Given the description of an element on the screen output the (x, y) to click on. 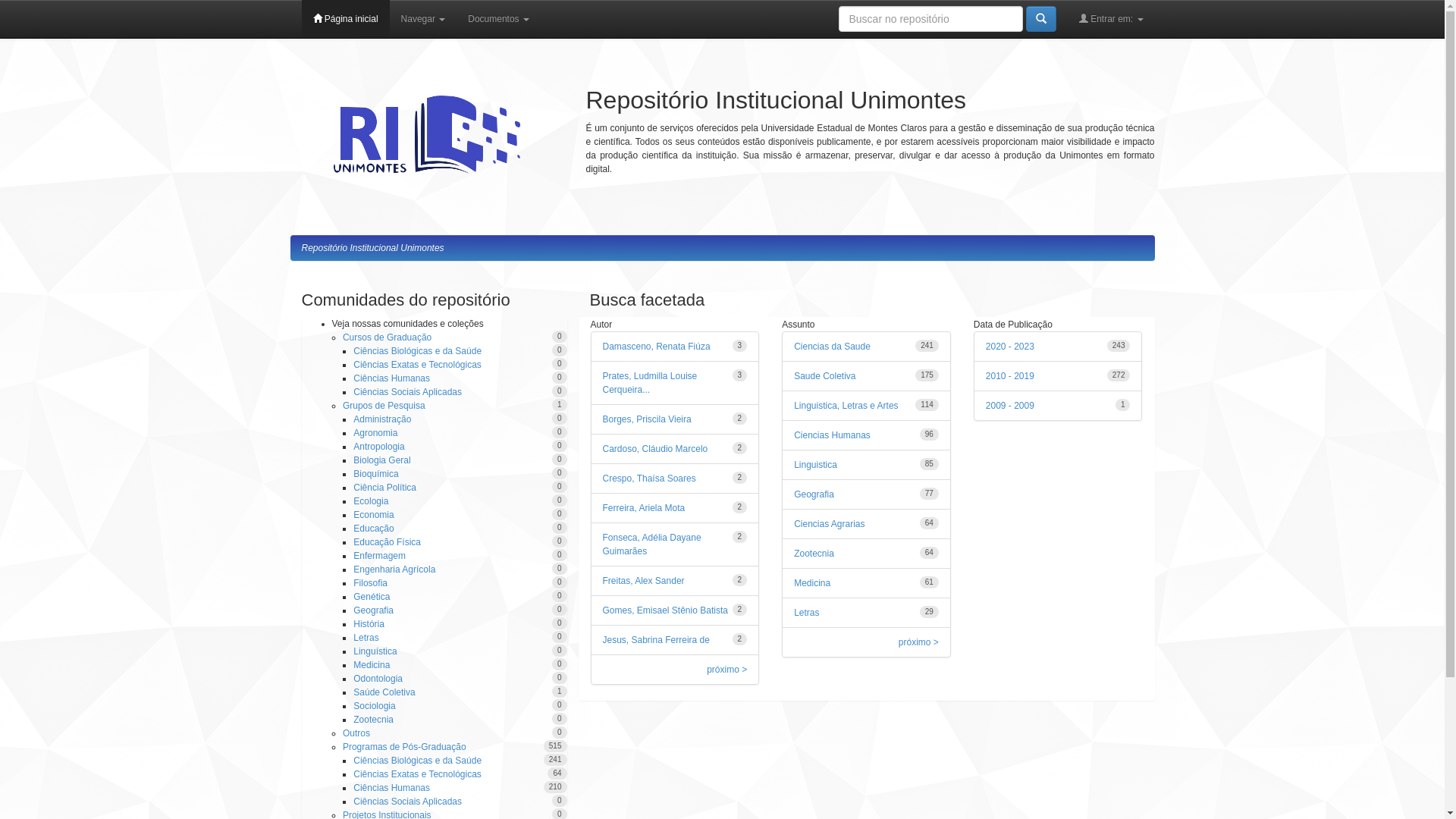
Ecologia Element type: text (370, 500)
Ciencias da Saude Element type: text (831, 346)
Zootecnia Element type: text (813, 553)
Sociologia Element type: text (374, 705)
Economia Element type: text (373, 514)
Jesus, Sabrina Ferreira de Element type: text (655, 639)
Agronomia Element type: text (375, 432)
Linguistica Element type: text (815, 464)
Ciencias Agrarias Element type: text (828, 523)
Documentos Element type: text (498, 18)
Medicina Element type: text (371, 664)
Ferreira, Ariela Mota Element type: text (643, 507)
Entrar em: Element type: text (1110, 18)
Saude Coletiva Element type: text (824, 375)
Freitas, Alex Sander Element type: text (643, 580)
Letras Element type: text (365, 637)
Zootecnia Element type: text (373, 719)
Filosofia Element type: text (370, 582)
Navegar Element type: text (423, 18)
Biologia Geral Element type: text (381, 460)
Outros Element type: text (356, 733)
Odontologia Element type: text (377, 678)
2009 - 2009 Element type: text (1009, 405)
Grupos de Pesquisa Element type: text (383, 405)
2010 - 2019 Element type: text (1009, 375)
Letras Element type: text (806, 612)
Ciencias Humanas Element type: text (831, 434)
Prates, Ludmilla Louise Cerqueira... Element type: text (649, 382)
Borges, Priscila Vieira Element type: text (646, 419)
Enfermagem Element type: text (379, 555)
Linguistica, Letras e Artes Element type: text (845, 405)
Medicina Element type: text (811, 582)
Antropologia Element type: text (378, 446)
Geografia Element type: text (373, 610)
2020 - 2023 Element type: text (1009, 346)
Geografia Element type: text (813, 494)
